Given the description of an element on the screen output the (x, y) to click on. 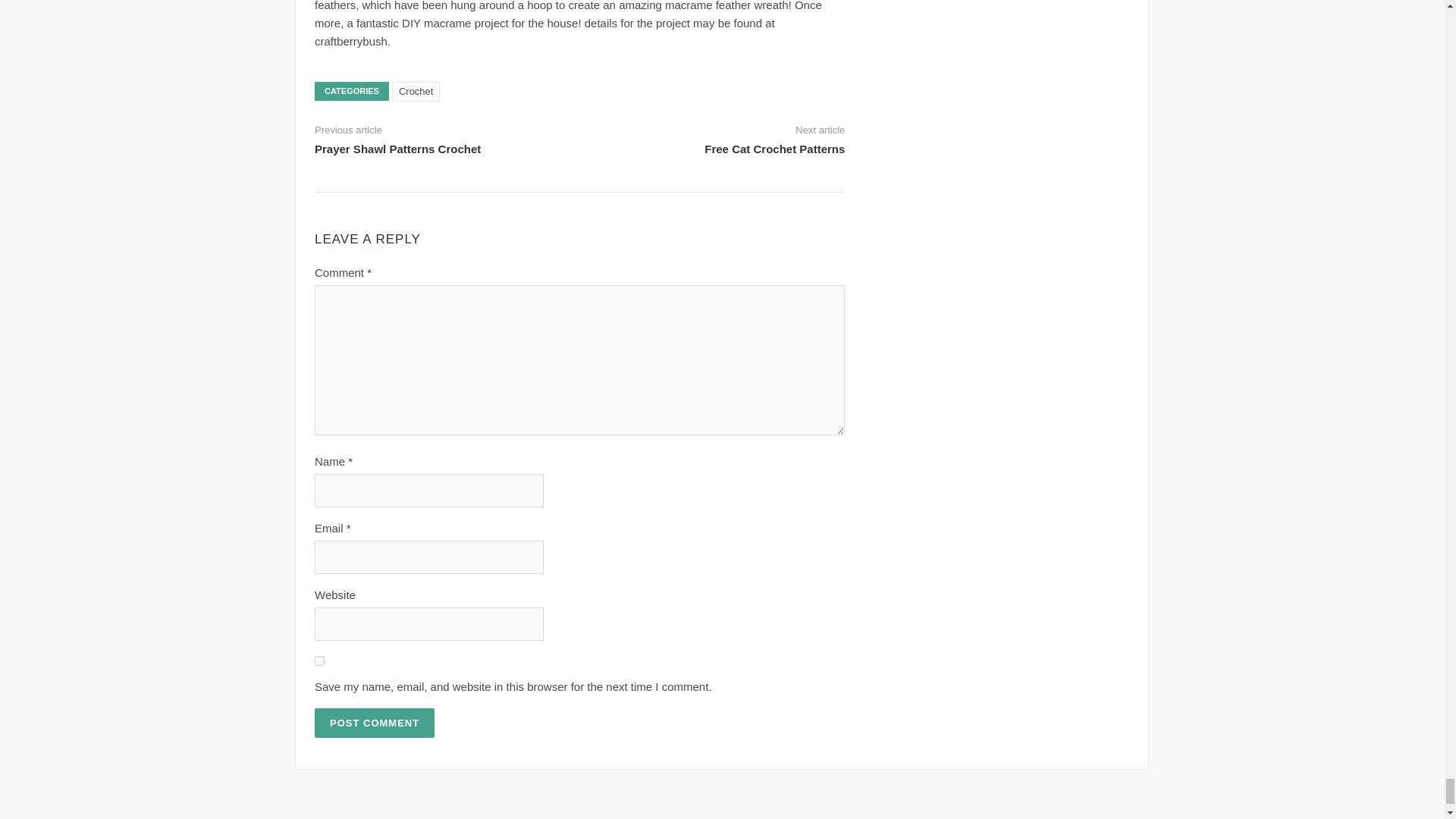
Free Cat Crochet Patterns (774, 148)
Post Comment (373, 722)
Crochet (416, 91)
Prayer Shawl Patterns Crochet (397, 148)
Post Comment (373, 722)
yes (319, 660)
